Given the description of an element on the screen output the (x, y) to click on. 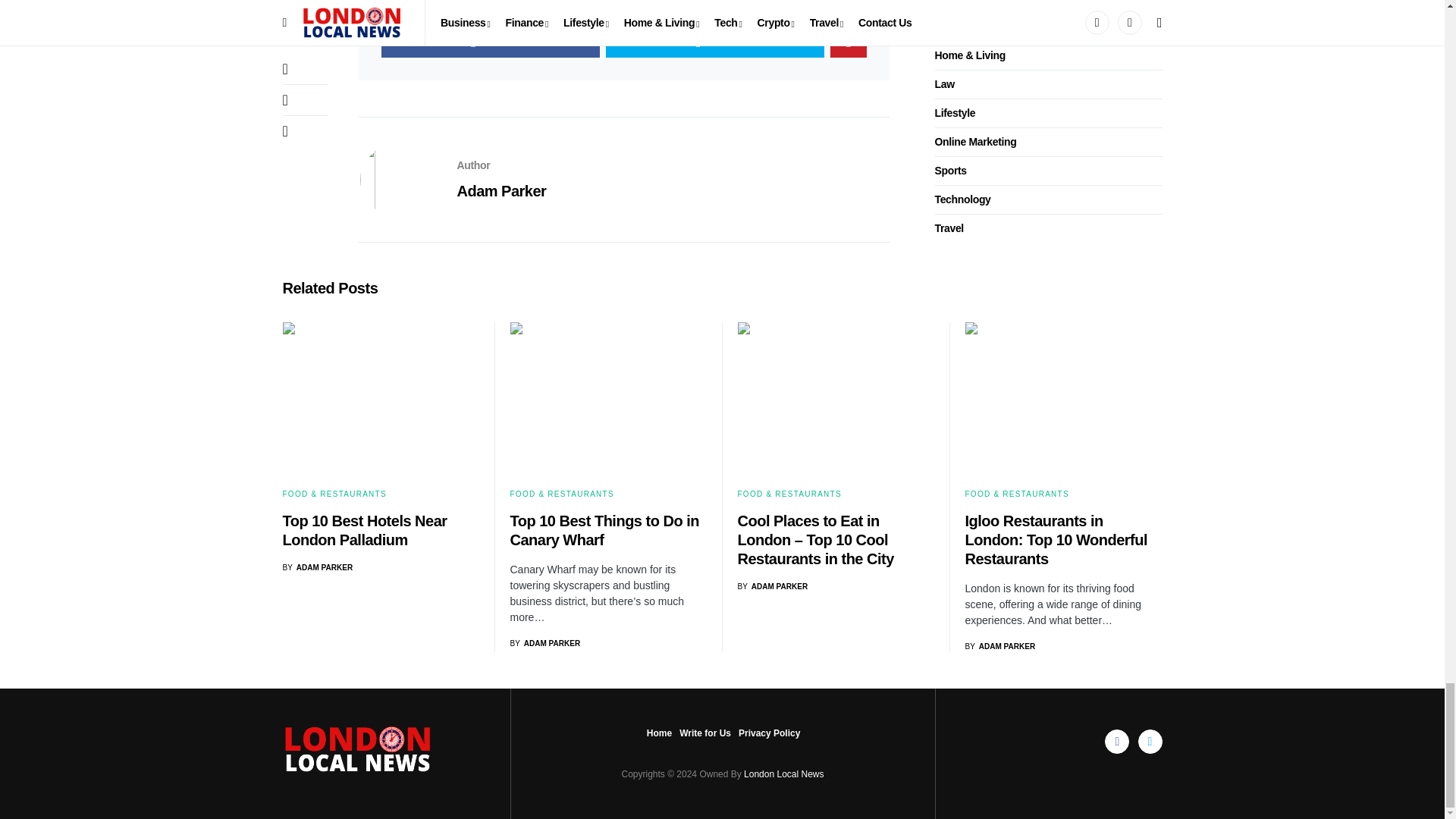
View all posts by Adam Parker (317, 567)
View all posts by Adam Parker (544, 643)
View all posts by Adam Parker (772, 586)
View all posts by Adam Parker (999, 645)
